Given the description of an element on the screen output the (x, y) to click on. 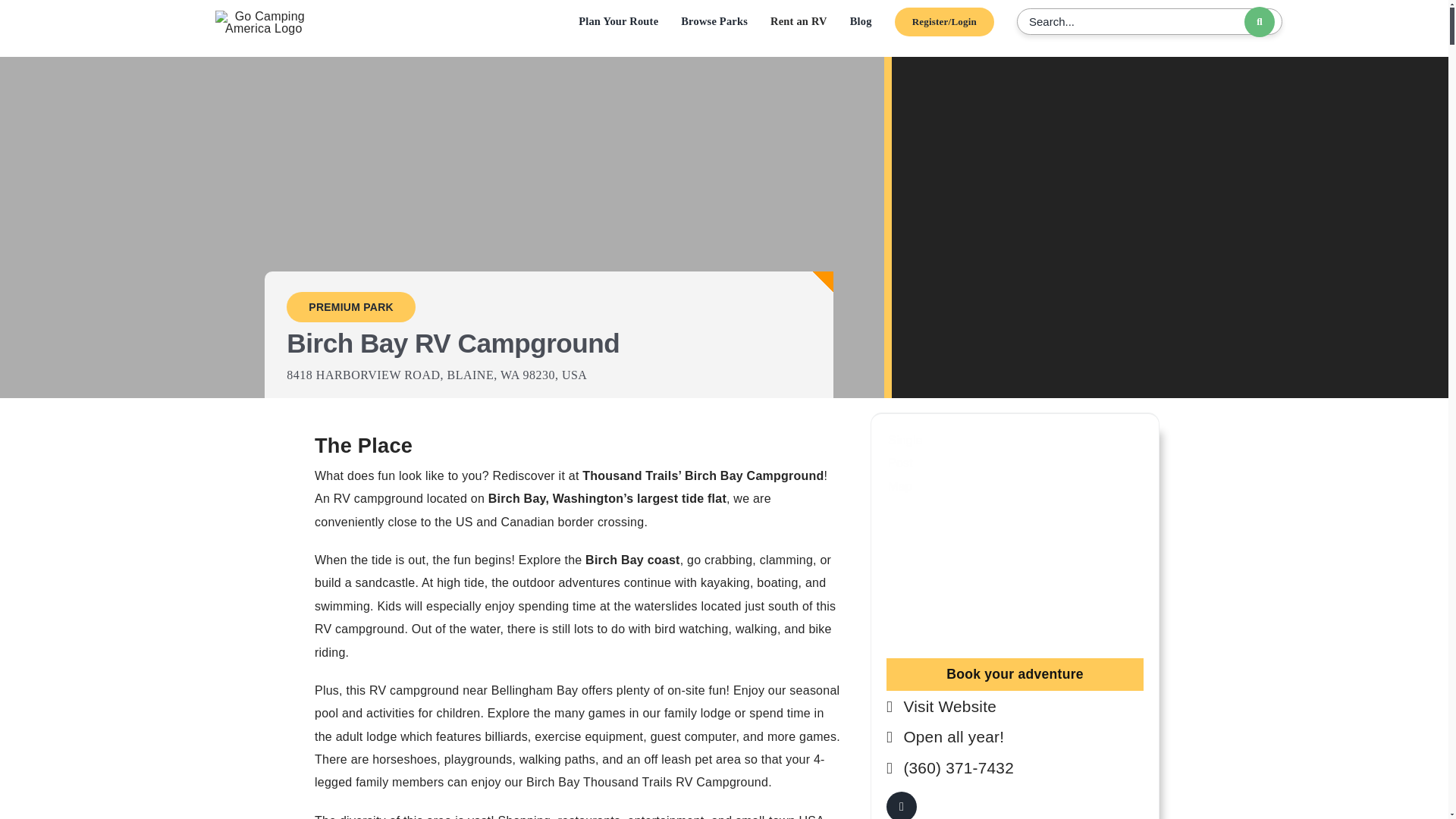
PREMIUM PARK (350, 306)
Facebook (901, 805)
Blog (861, 21)
Browse Parks (714, 21)
Book your adventure (1014, 674)
Visit Website (948, 705)
Plan Your Route (618, 21)
Rent an RV (798, 21)
